Given the description of an element on the screen output the (x, y) to click on. 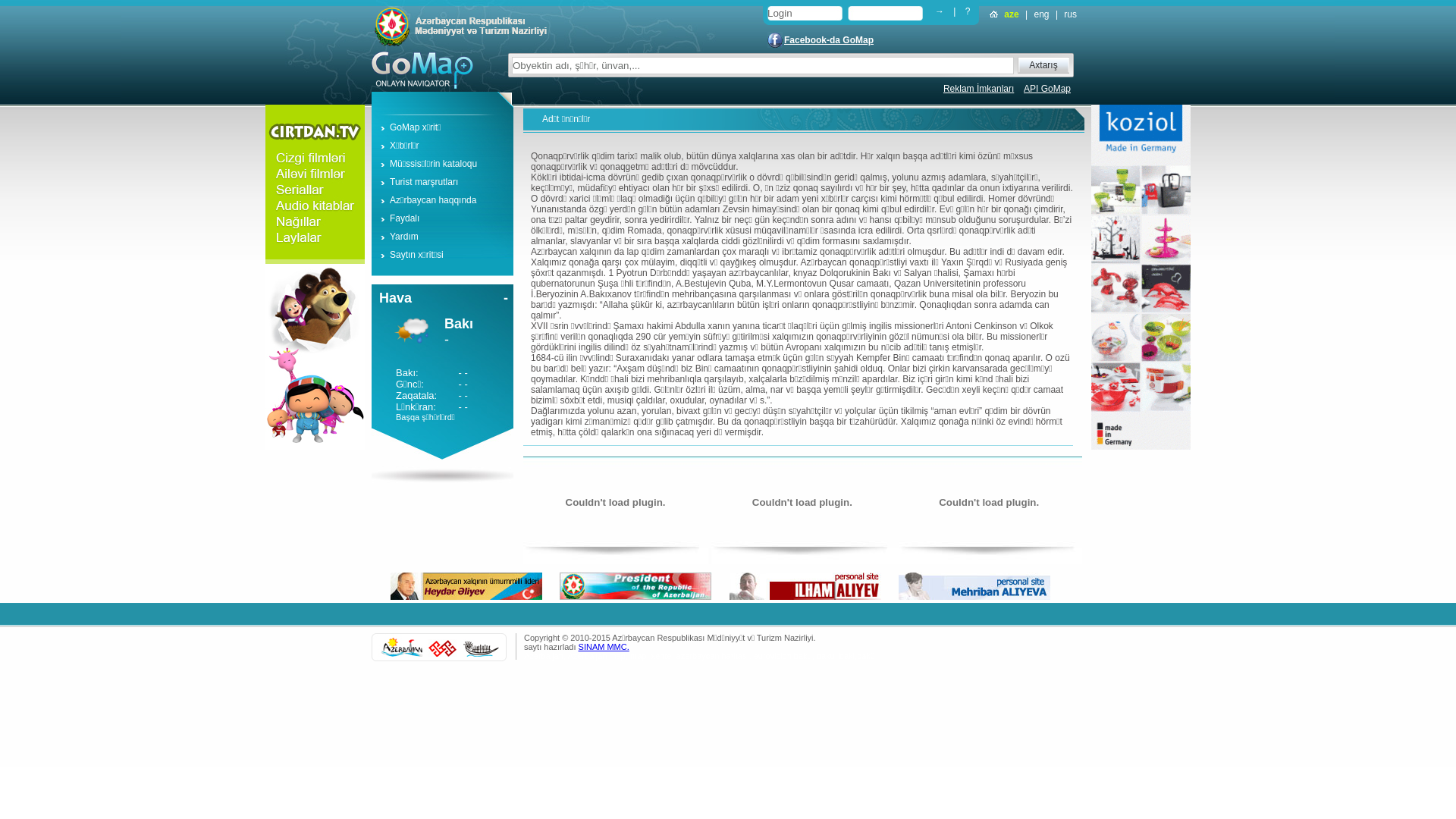
eng Element type: text (1041, 14)
? Element type: text (967, 11)
API GoMap Element type: text (1046, 88)
SINAM MMC. Element type: text (603, 646)
Search Element type: text (1043, 78)
rus Element type: text (1069, 14)
Facebook-da GoMap Element type: text (828, 39)
aze Element type: text (1011, 14)
Search Element type: text (952, 23)
